Given the description of an element on the screen output the (x, y) to click on. 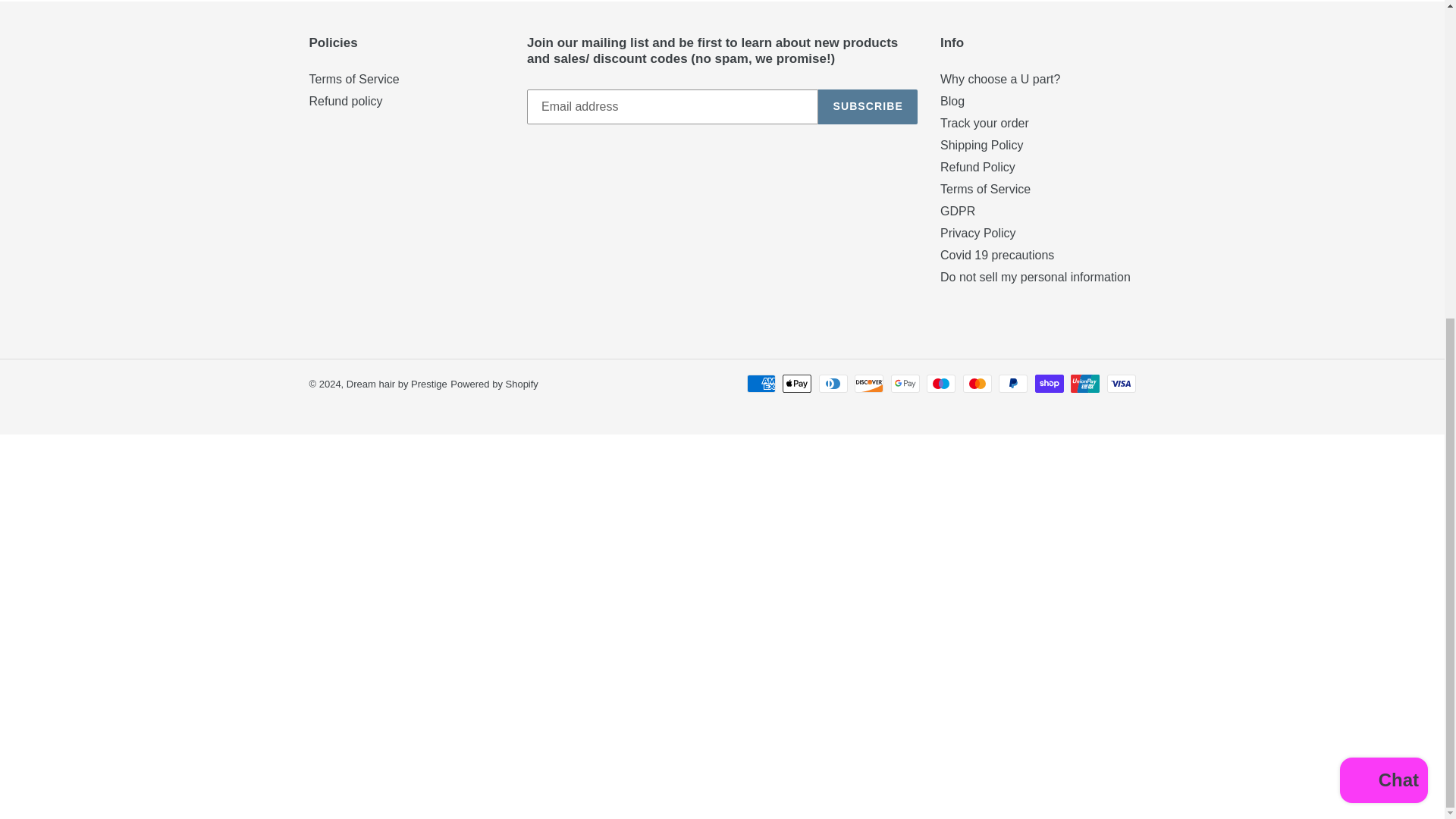
Blog (951, 101)
Terms of Service (353, 78)
SUBSCRIBE (867, 106)
Track your order (984, 123)
Shipping Policy (981, 144)
Refund policy (345, 101)
Shopify online store chat (1383, 267)
Why choose a U part? (999, 78)
